Given the description of an element on the screen output the (x, y) to click on. 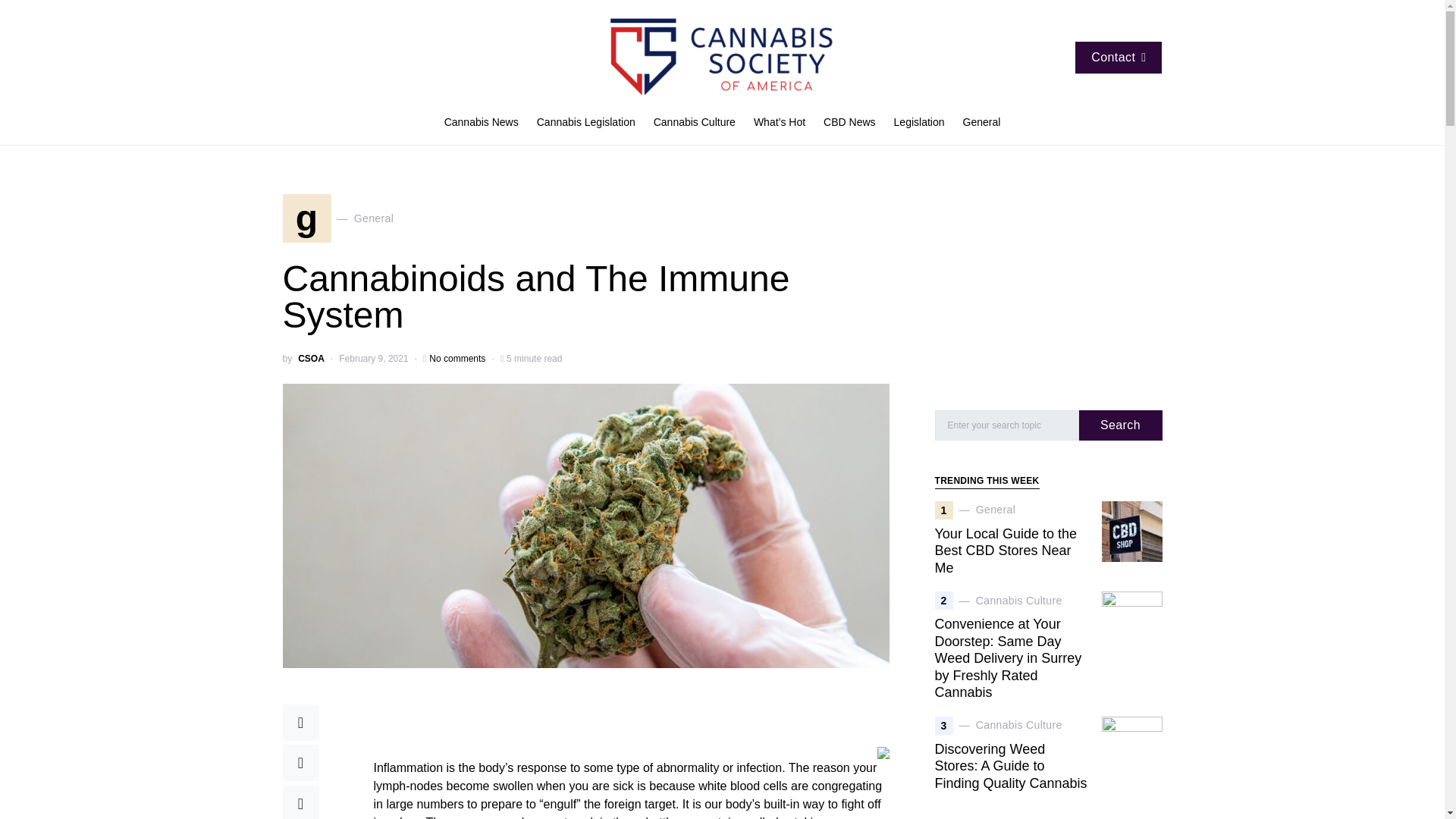
General (977, 122)
CBD News (848, 122)
Contact (1118, 57)
Cannabis Culture (694, 122)
Cannabis Legislation (586, 122)
No comments (337, 218)
CSOA (456, 358)
Cannabis News (311, 358)
Legislation (485, 122)
View all posts by CSOA (919, 122)
